Given the description of an element on the screen output the (x, y) to click on. 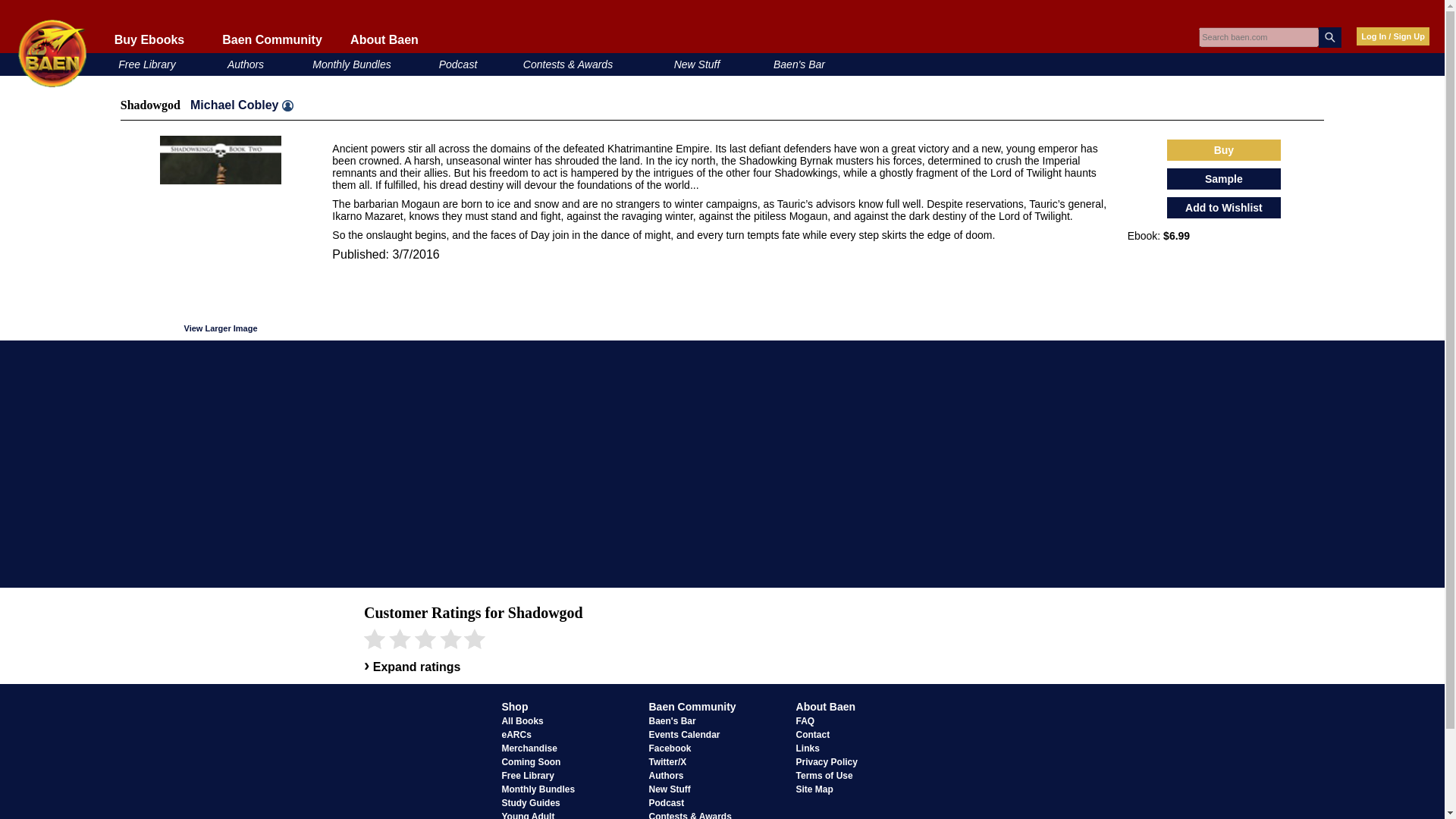
New Stuff (697, 64)
Podcast (458, 64)
Authors (245, 64)
Monthly Bundles (352, 64)
About Baen (384, 40)
Baen Community (272, 40)
Baen's Bar (799, 64)
Buy Ebooks (149, 40)
Free Library (145, 64)
